Given the description of an element on the screen output the (x, y) to click on. 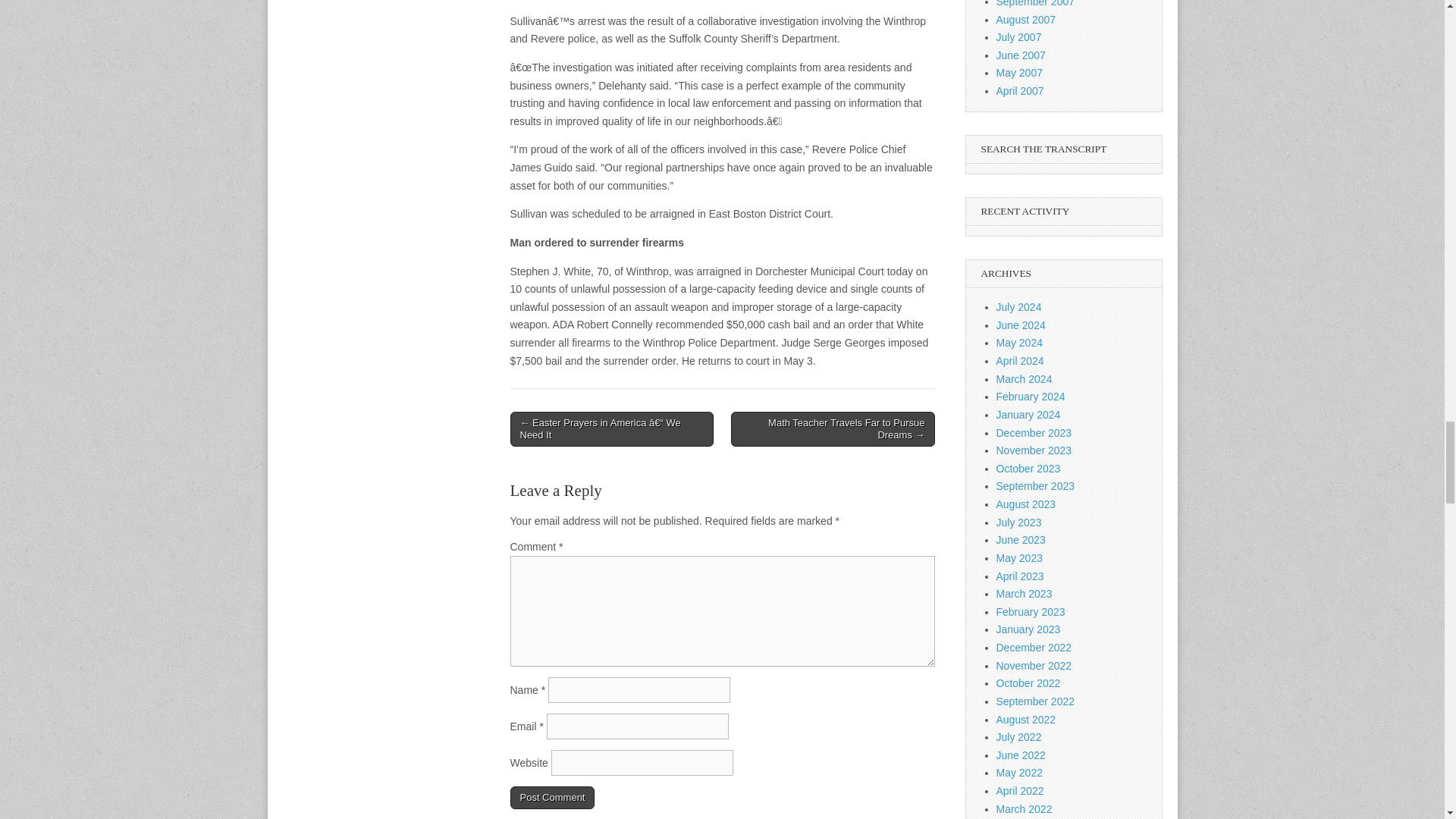
Post Comment (551, 797)
Post Comment (551, 797)
